Given the description of an element on the screen output the (x, y) to click on. 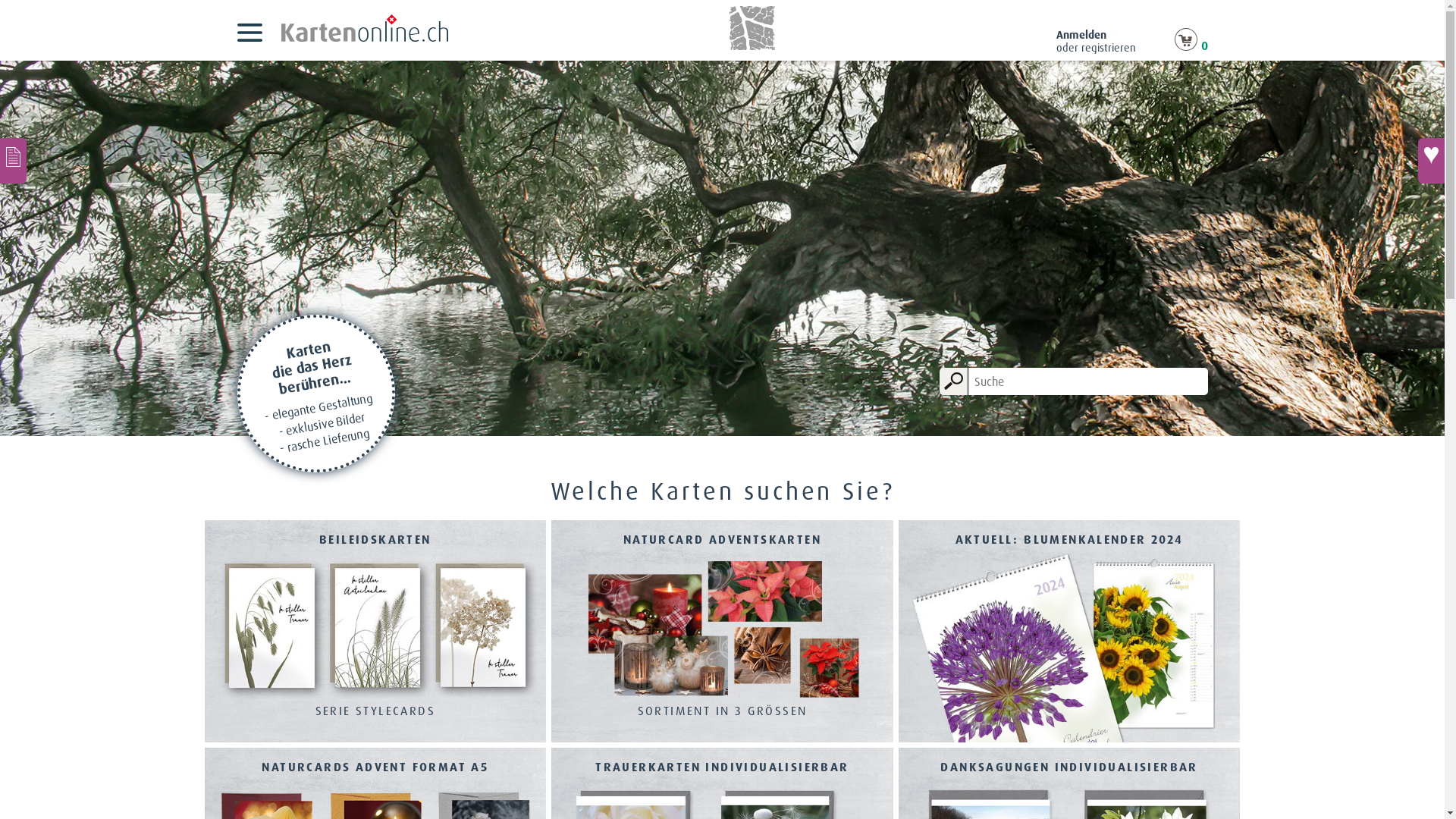
Suchen Element type: hover (953, 380)
Anmelden Element type: text (1080, 34)
oder registrieren Element type: text (1095, 47)
BEILEIDSKARTEN
SERIE STYLECARDS Element type: text (375, 633)
zum Warenkorb Element type: hover (1184, 45)
AKTUELL: BLUMENKALENDER 2024 Element type: text (1069, 633)
